Given the description of an element on the screen output the (x, y) to click on. 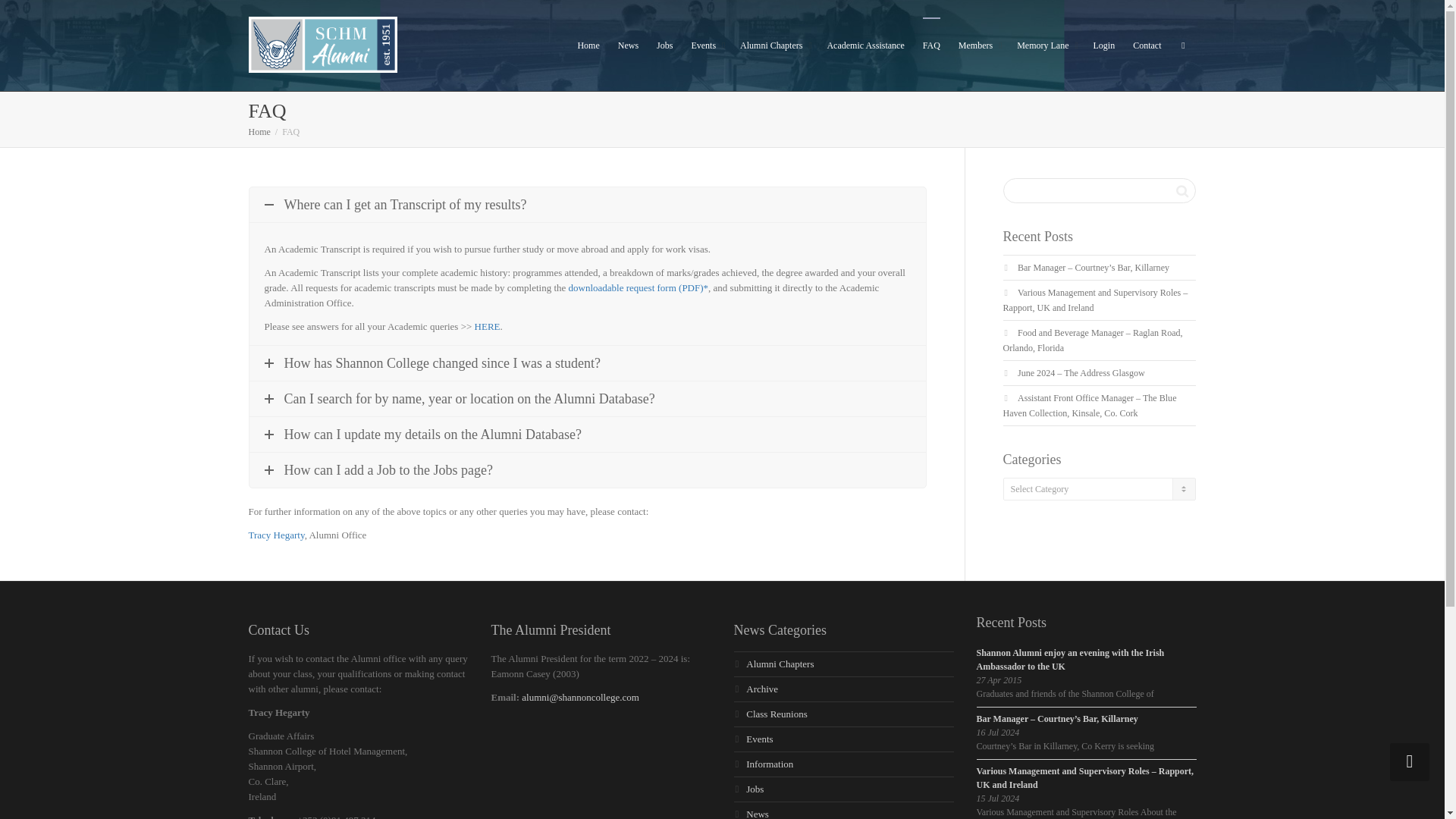
Academic Assistance (865, 45)
Where can I get an Transcript of my results? (586, 204)
Shannon College Alumni (322, 44)
Search (1181, 190)
How can I update my details on the Alumni Database? (586, 434)
Search (1181, 190)
Tracy Hegarty (276, 534)
Home (259, 131)
HERE (487, 326)
Academic Assistance (865, 45)
Alumni Chapters (773, 45)
Memory Lane (1045, 45)
How can I add a Job to the Jobs page? (586, 469)
How has Shannon College changed since I was a student? (586, 362)
Alumni Chapters (773, 45)
